Given the description of an element on the screen output the (x, y) to click on. 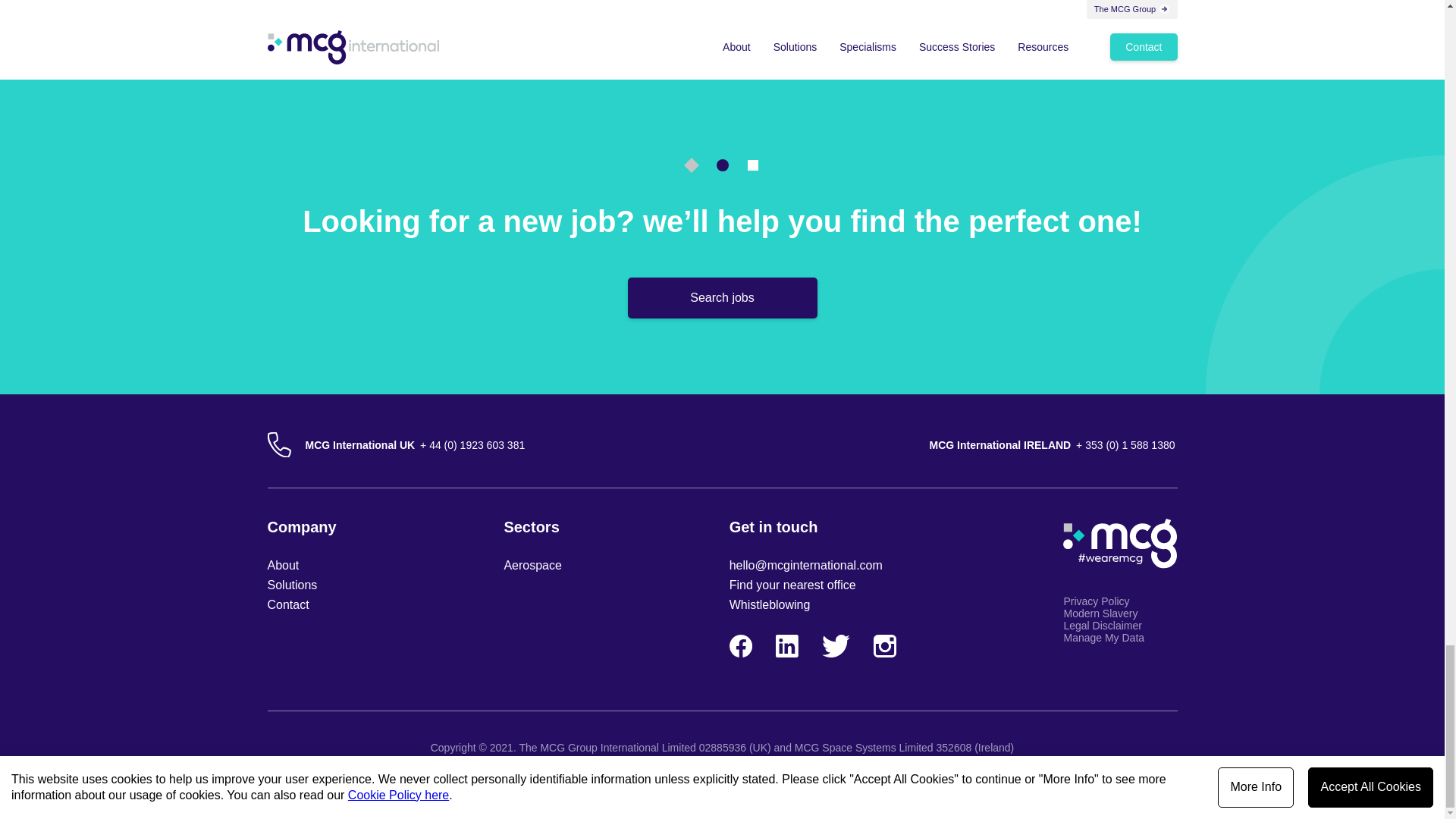
Manage My Data (1119, 637)
Legal Disclaimer (1119, 625)
Modern Slavery (1119, 613)
Privacy Policy (1119, 601)
